Given the description of an element on the screen output the (x, y) to click on. 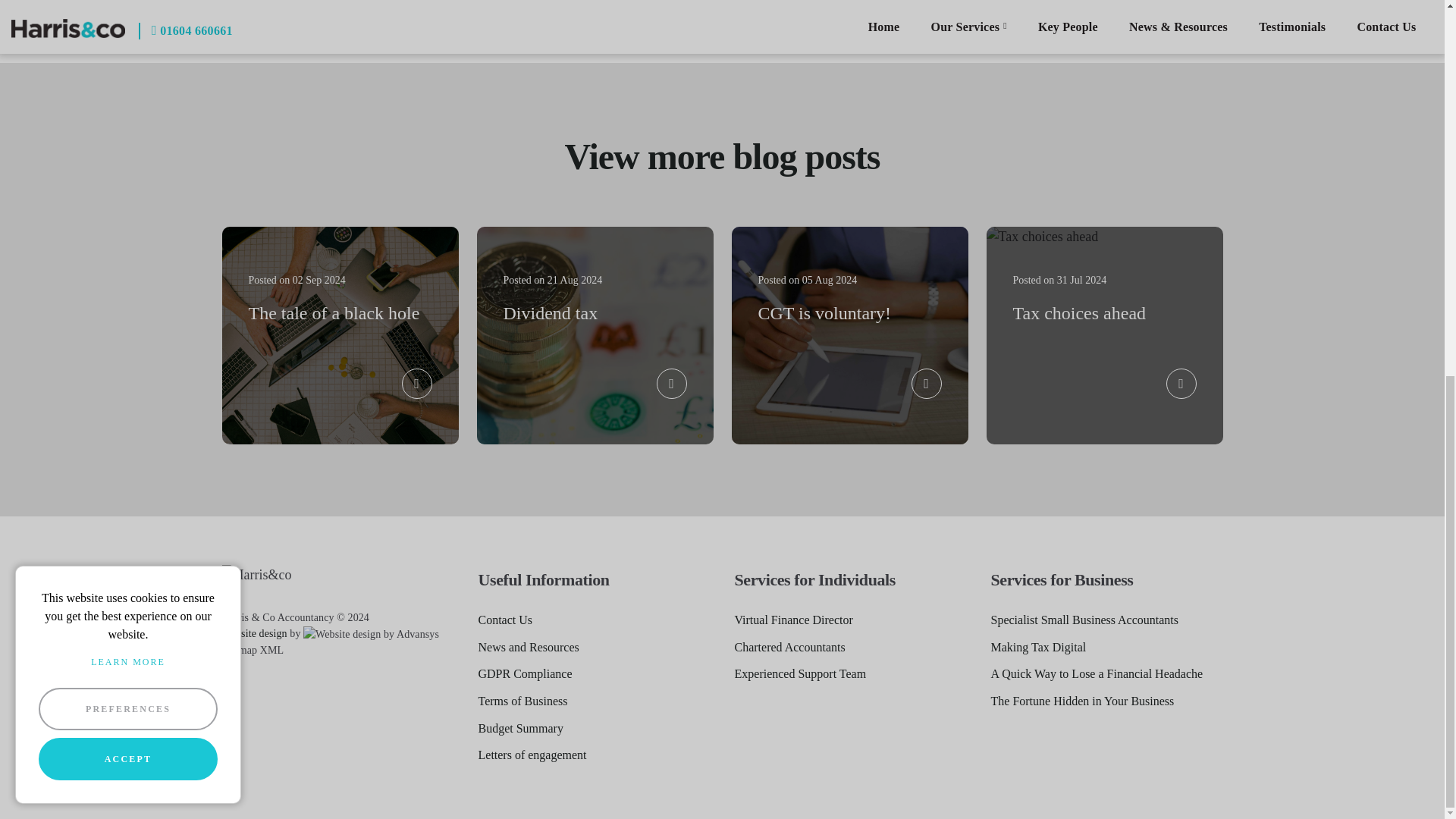
Website design (253, 633)
read more (416, 383)
GDPR Compliance (524, 674)
Sitemap XML (252, 650)
Website design by Advansys (253, 633)
read more (1181, 383)
News and Resources (527, 647)
read more (671, 383)
Terms of Business (522, 701)
Contact Us (504, 619)
